Given the description of an element on the screen output the (x, y) to click on. 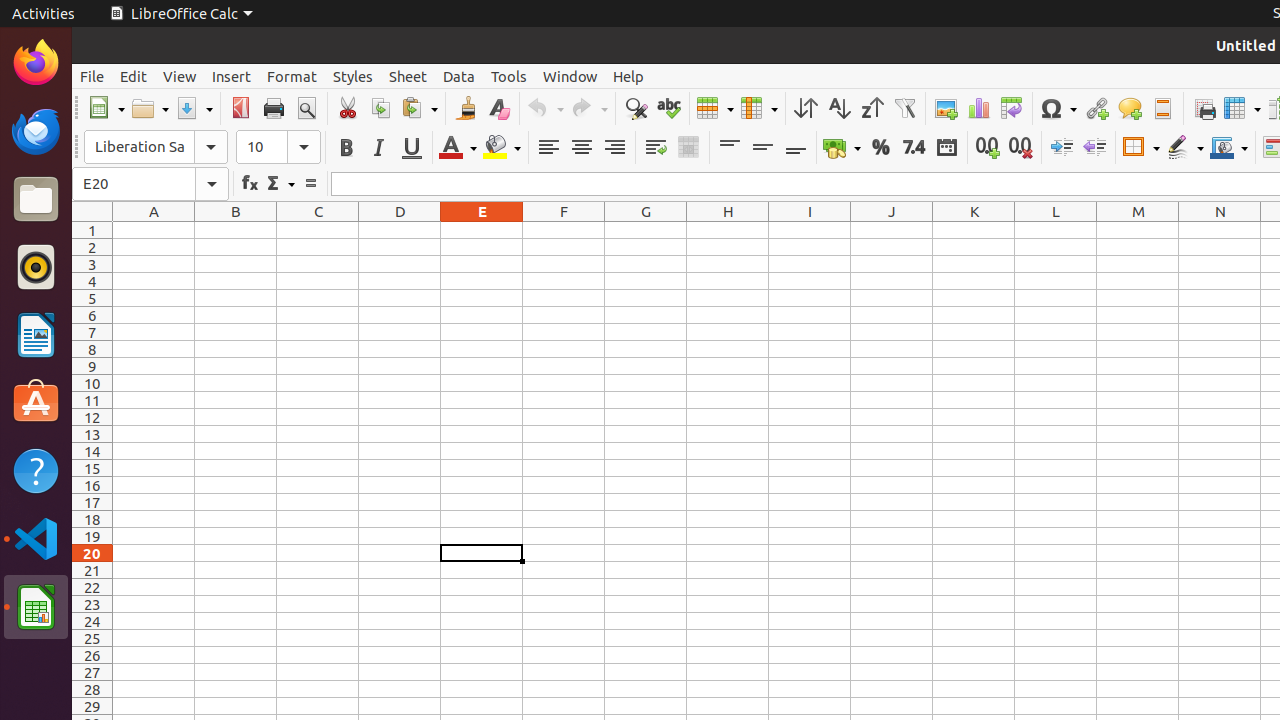
A1 Element type: table-cell (154, 230)
Align Top Element type: push-button (729, 147)
Print Preview Element type: toggle-button (306, 108)
LibreOffice Calc Element type: push-button (36, 607)
